Given the description of an element on the screen output the (x, y) to click on. 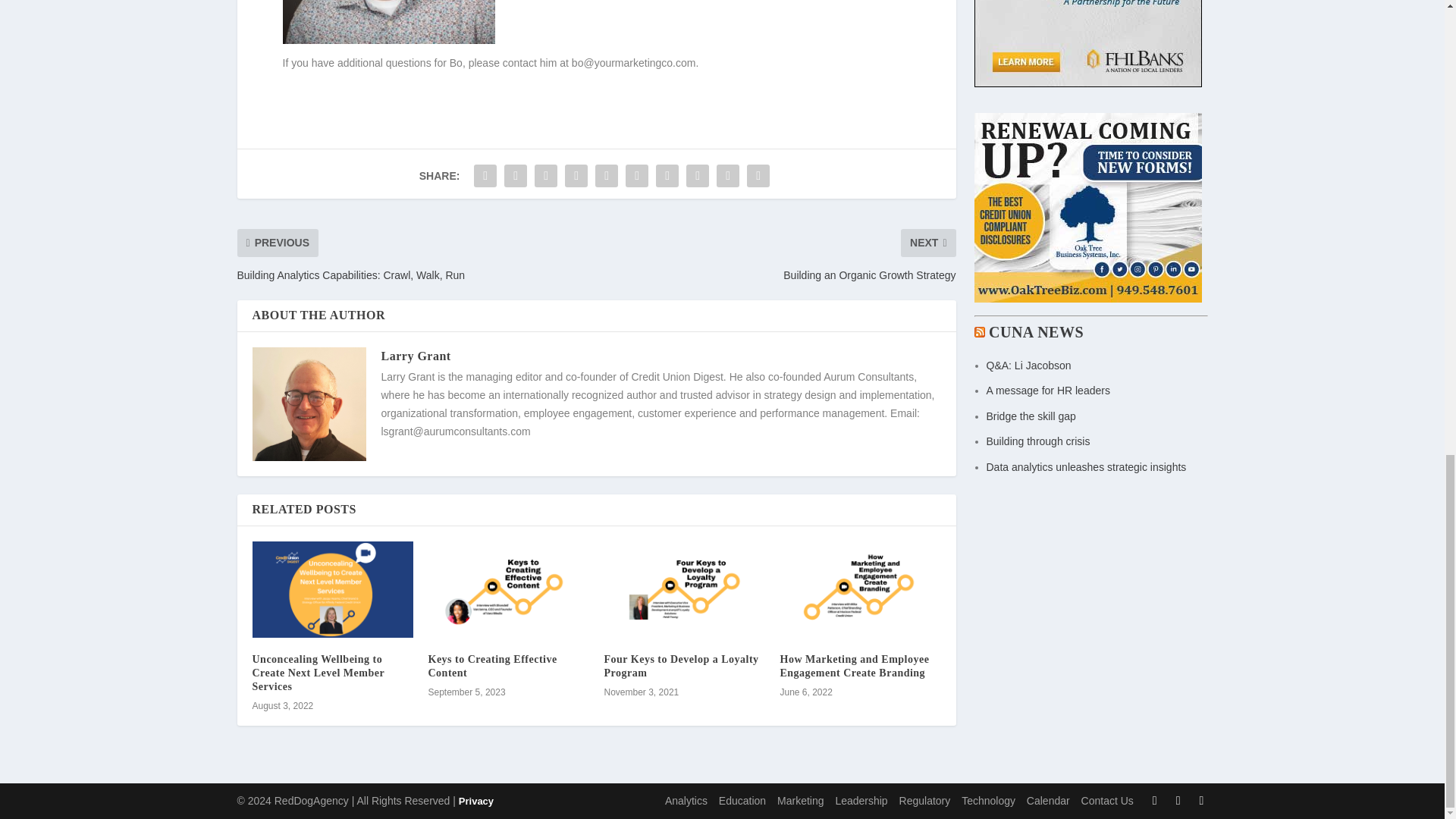
Share "Strategy and Marketing: The Perfect Pair" via Print (757, 175)
Share "Strategy and Marketing: The Perfect Pair" via Twitter (515, 175)
Share "Strategy and Marketing: The Perfect Pair" via Buffer (667, 175)
Larry Grant (414, 355)
View all posts by Larry Grant (414, 355)
Share "Strategy and Marketing: The Perfect Pair" via Email (727, 175)
Share "Strategy and Marketing: The Perfect Pair" via Tumblr (575, 175)
